Given the description of an element on the screen output the (x, y) to click on. 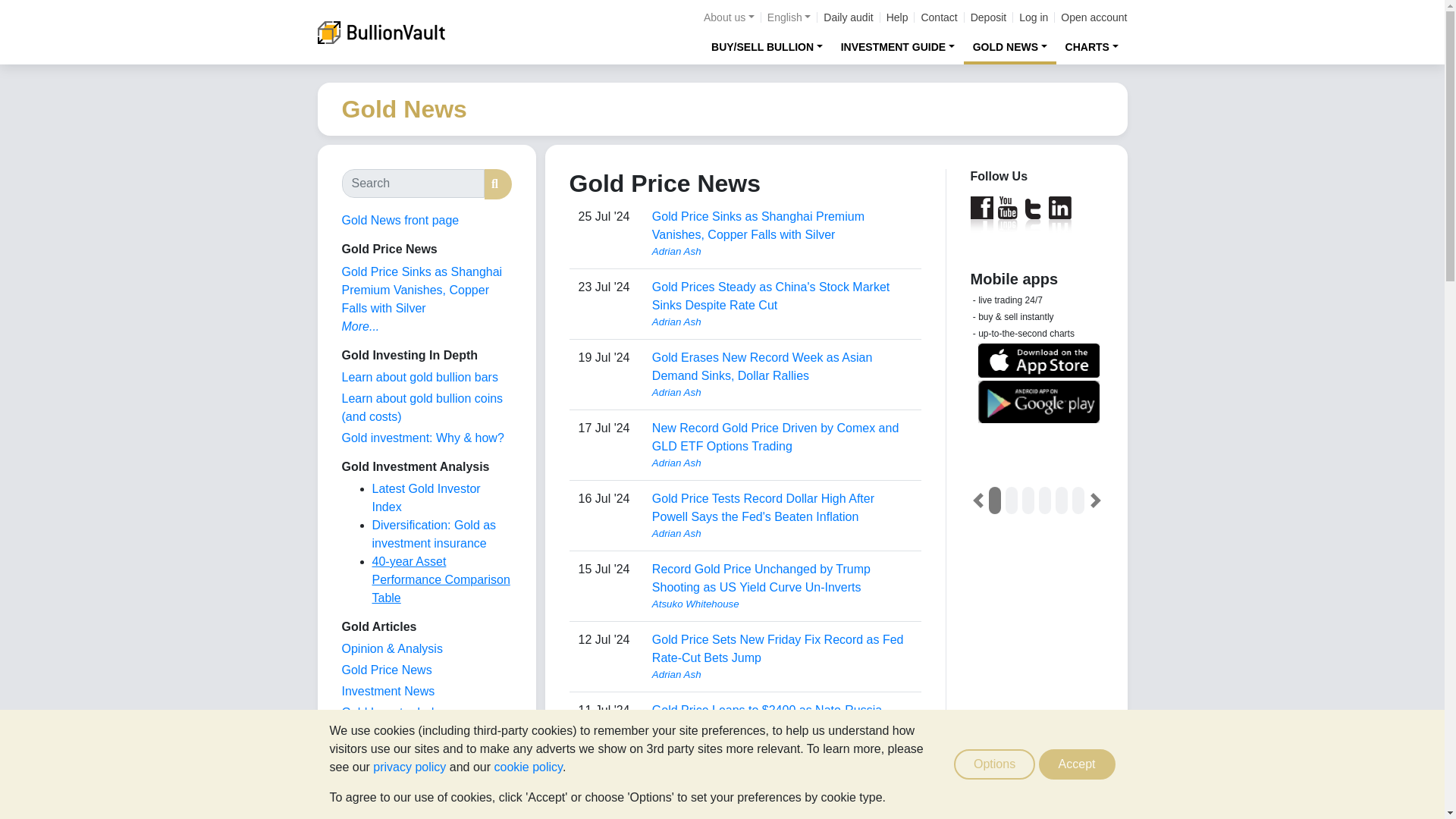
Enter the terms you wish to search for. (411, 183)
Daily audit (848, 17)
Investment News (386, 690)
Market Fundamentals (399, 754)
Gold Infographics (387, 733)
English (788, 17)
Accept (1077, 764)
View user profile. (782, 322)
Options (994, 764)
View user profile. (782, 251)
INVESTMENT GUIDE (897, 46)
The View from the Vault (391, 648)
Gold in History (380, 775)
View user profile. (782, 533)
Open account (1093, 17)
